Given the description of an element on the screen output the (x, y) to click on. 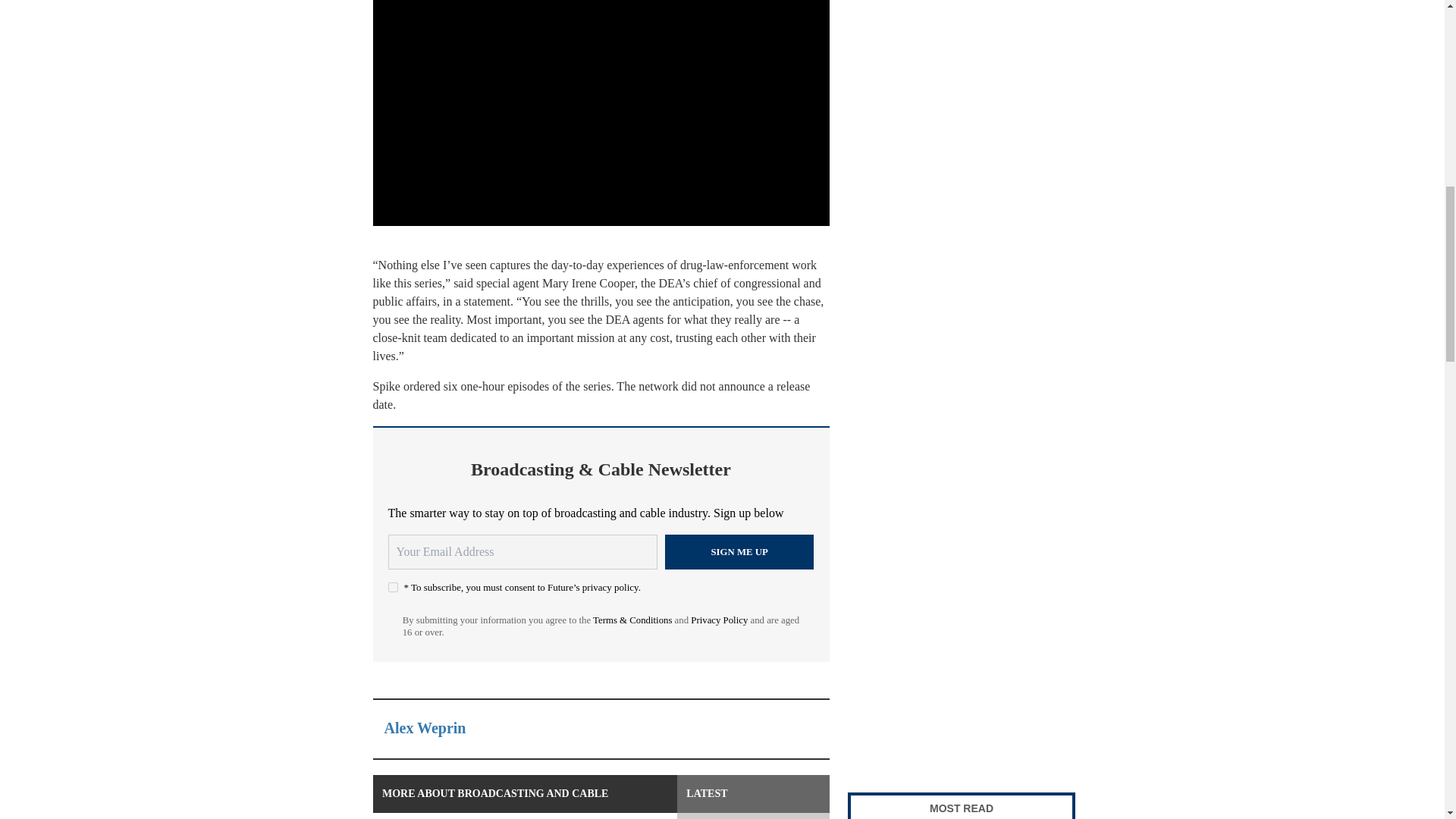
Sign me up (739, 551)
on (392, 587)
Sign me up (739, 551)
